Given the description of an element on the screen output the (x, y) to click on. 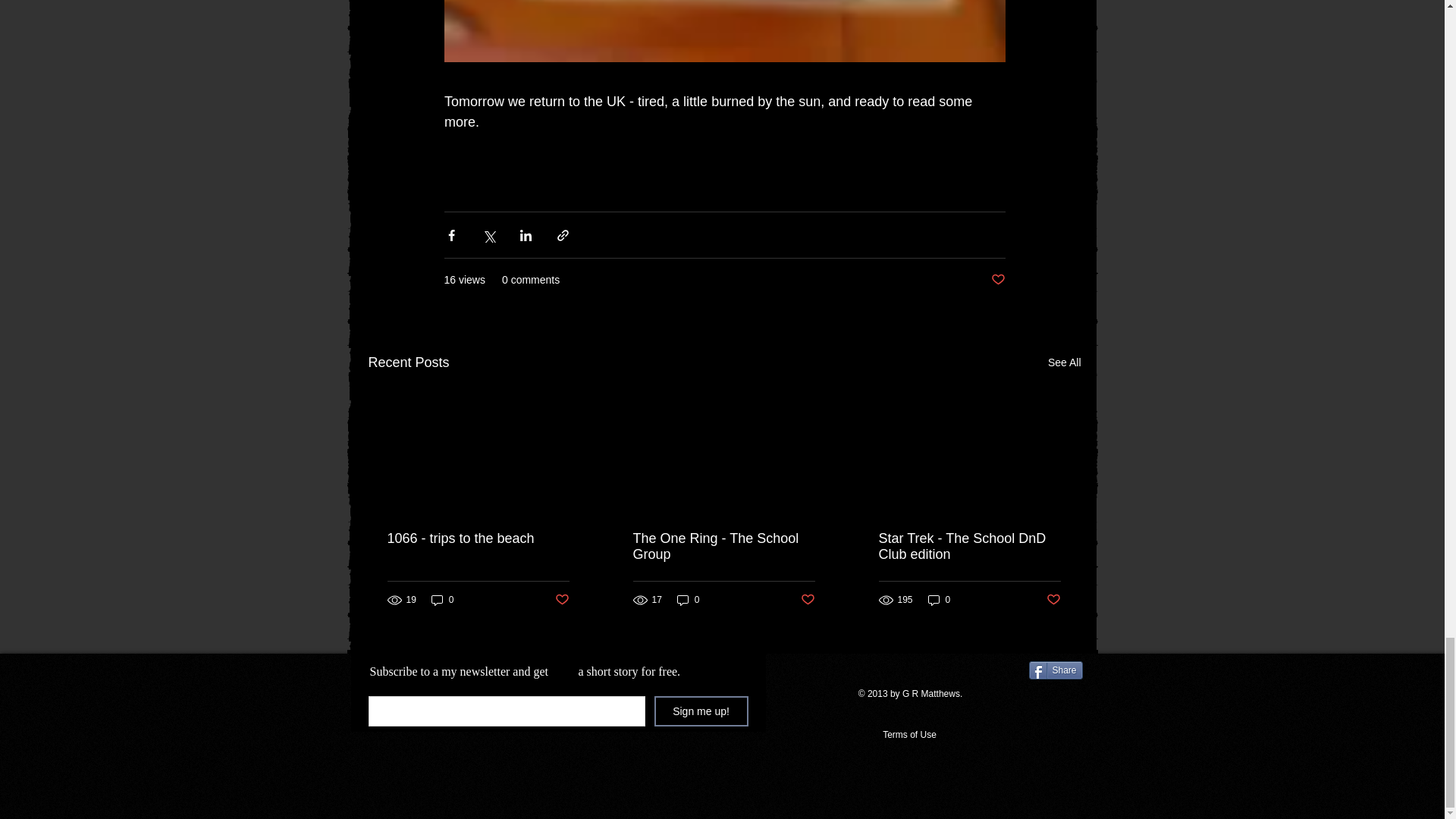
Facebook Like (894, 676)
Twitter Tweet (1055, 695)
Share (1054, 669)
